Given the description of an element on the screen output the (x, y) to click on. 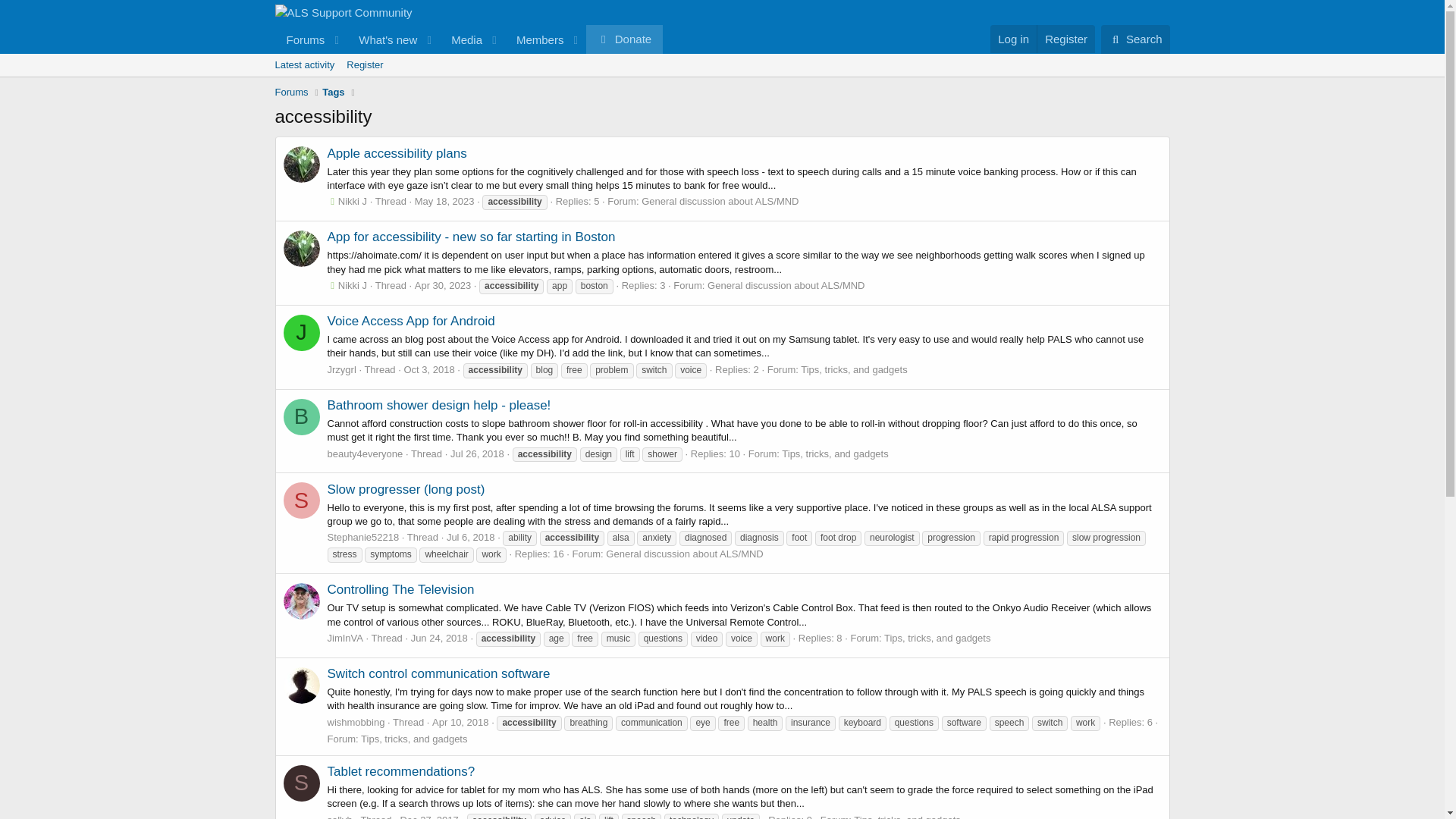
Apr 10, 2018 at 5:08 AM (459, 722)
Search (1135, 39)
Register (364, 65)
Forums (300, 39)
Jul 6, 2018 at 2:49 PM (470, 536)
Members (534, 39)
Latest activity (303, 65)
Forums (291, 92)
What's new (467, 39)
